Given the description of an element on the screen output the (x, y) to click on. 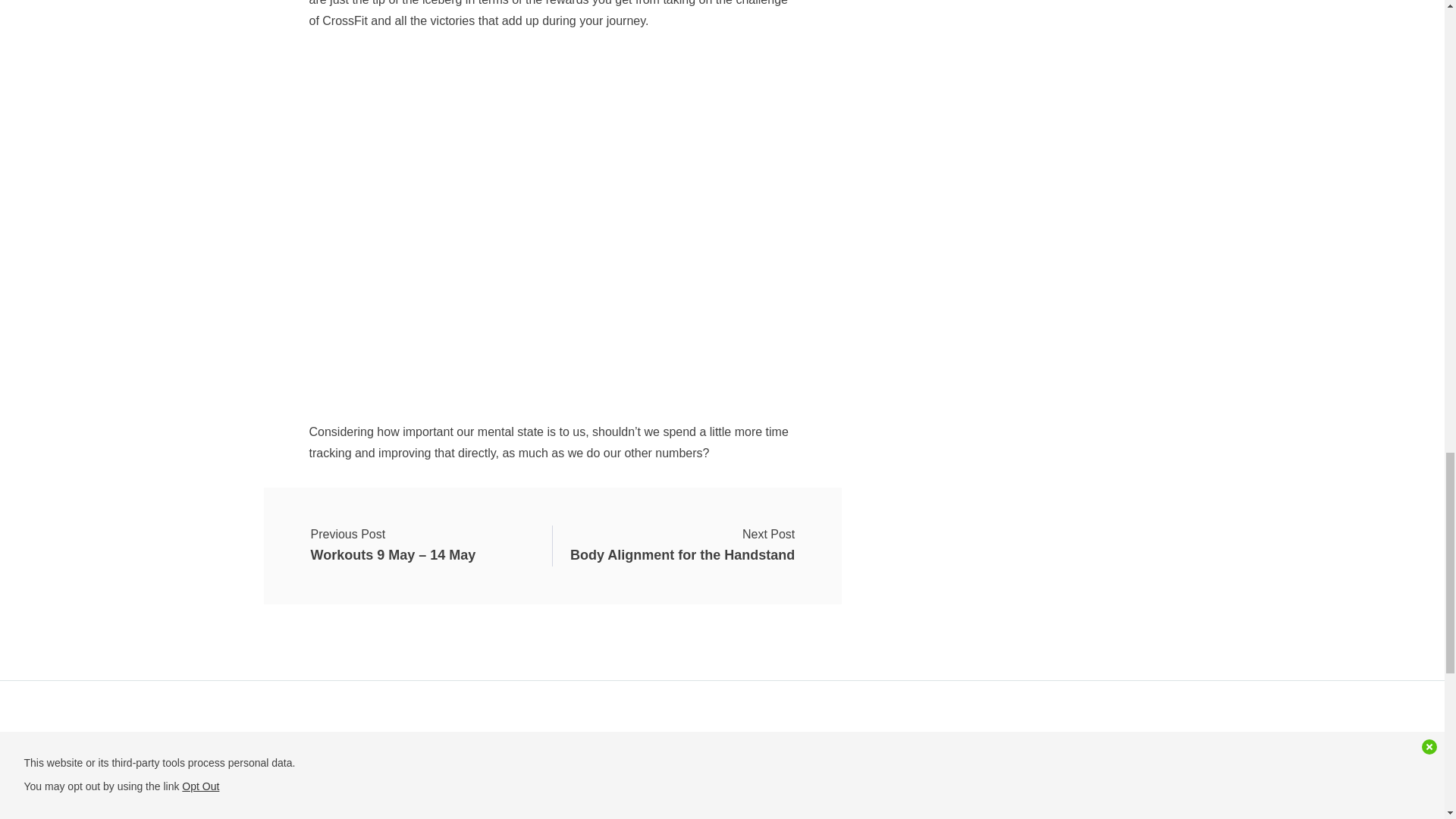
Body Alignment for the Handstand (682, 545)
